Given the description of an element on the screen output the (x, y) to click on. 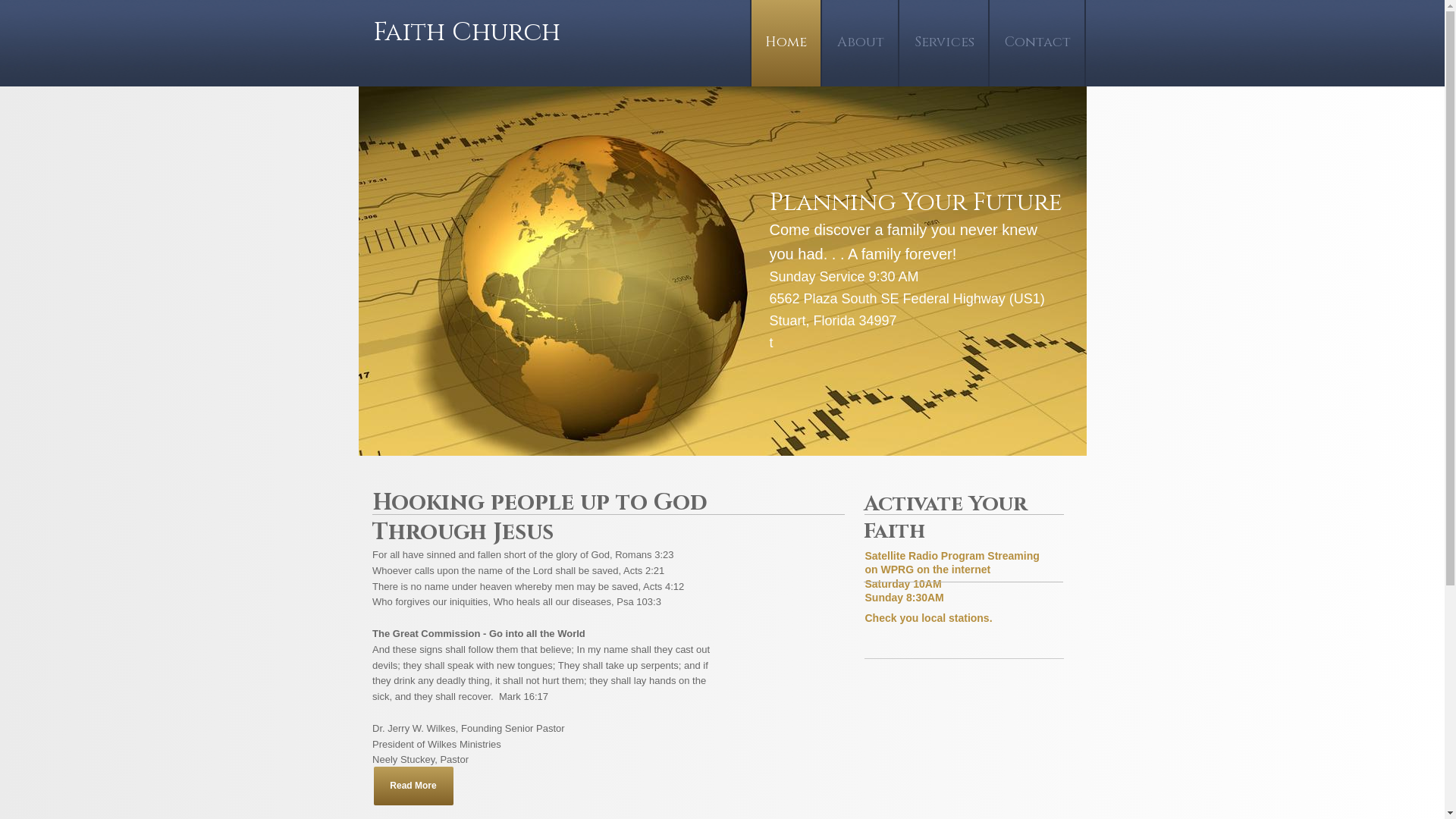
Read More Element type: text (412, 785)
